Given the description of an element on the screen output the (x, y) to click on. 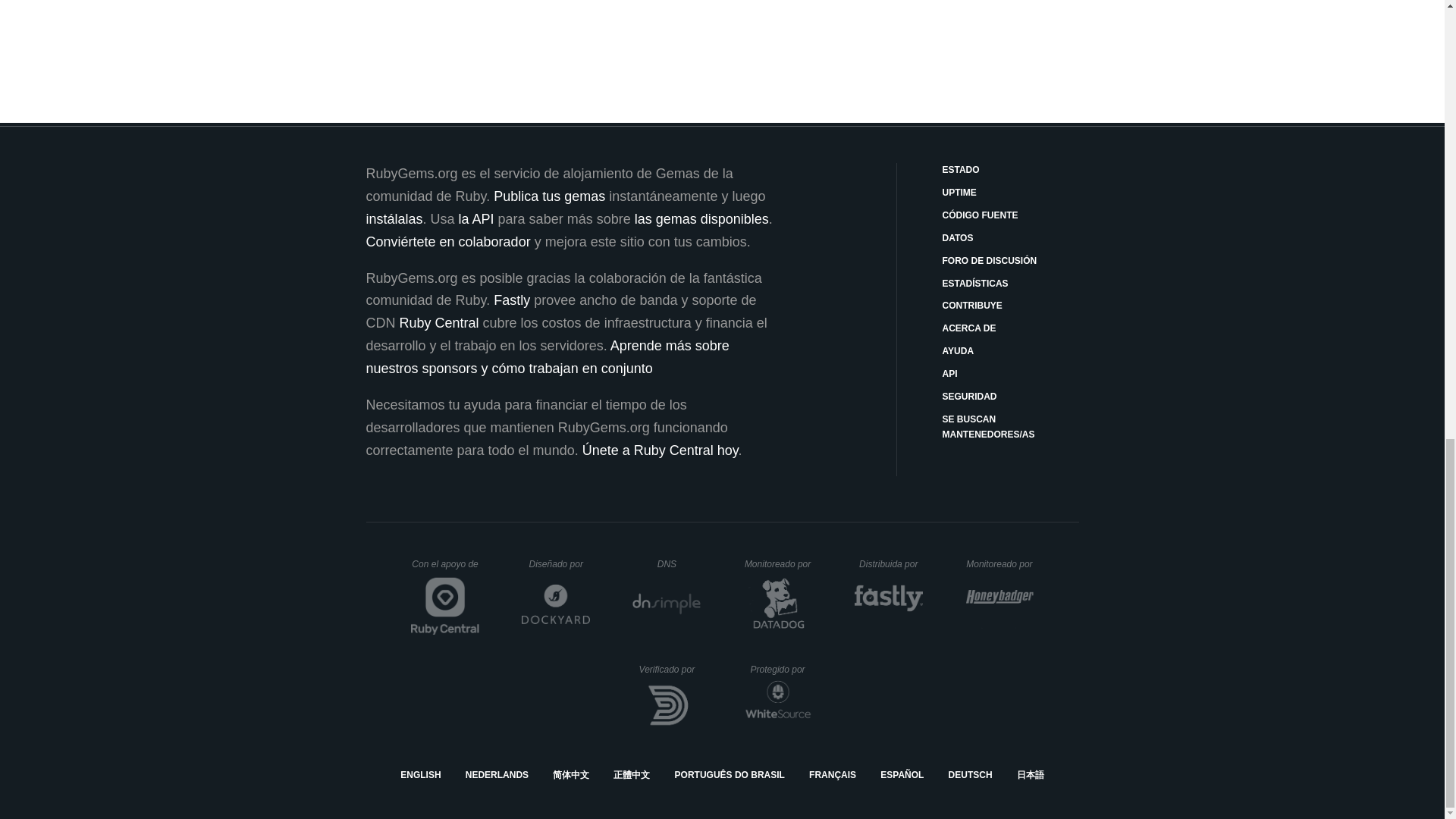
CONTRIBUYE (1010, 305)
DATOS (1010, 238)
UPTIME (1010, 192)
ESTADO (1010, 170)
ACERCA DE (1010, 328)
